Given the description of an element on the screen output the (x, y) to click on. 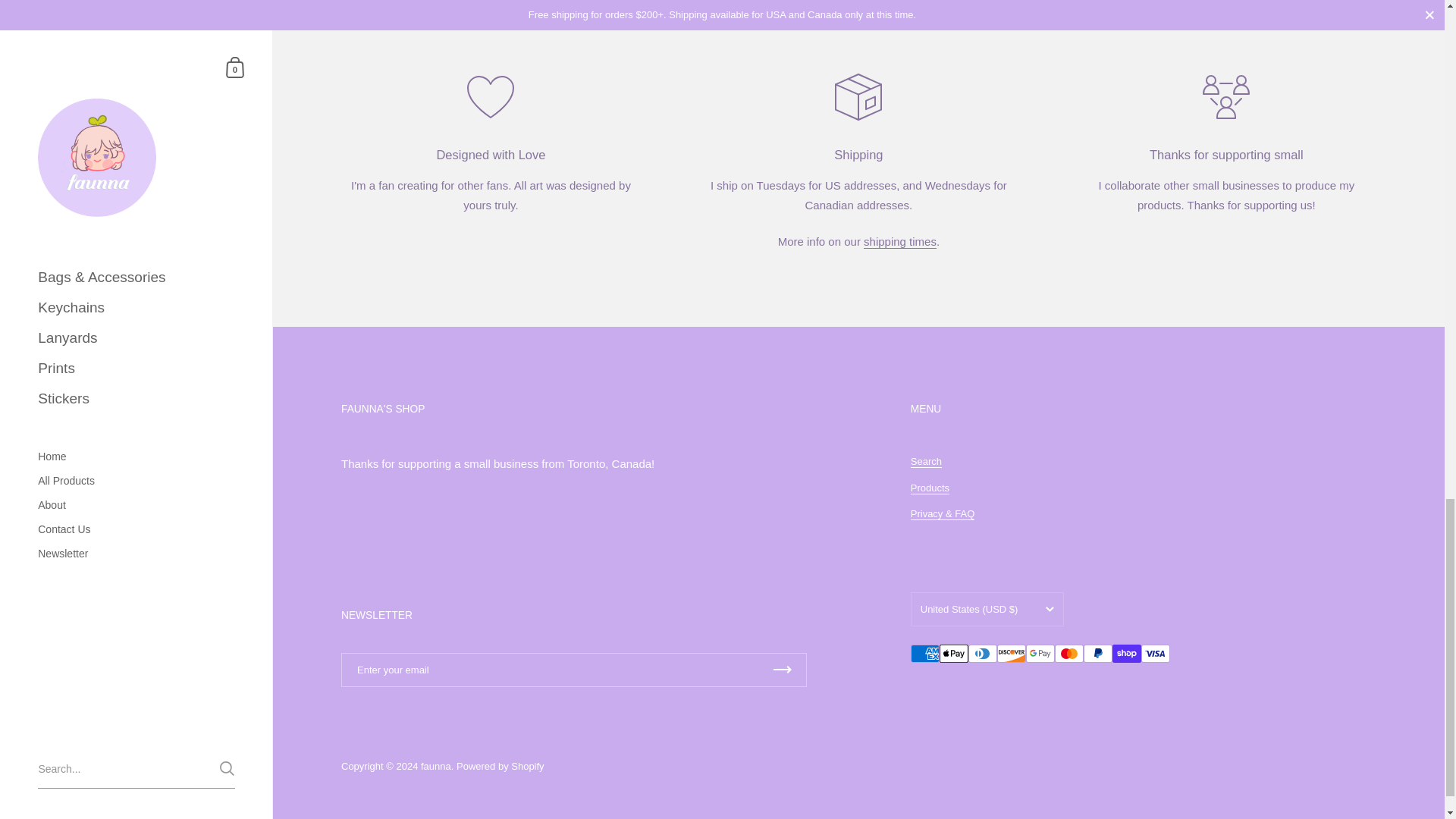
About (899, 241)
Products (930, 488)
Search (926, 461)
shipping times (899, 241)
